Given the description of an element on the screen output the (x, y) to click on. 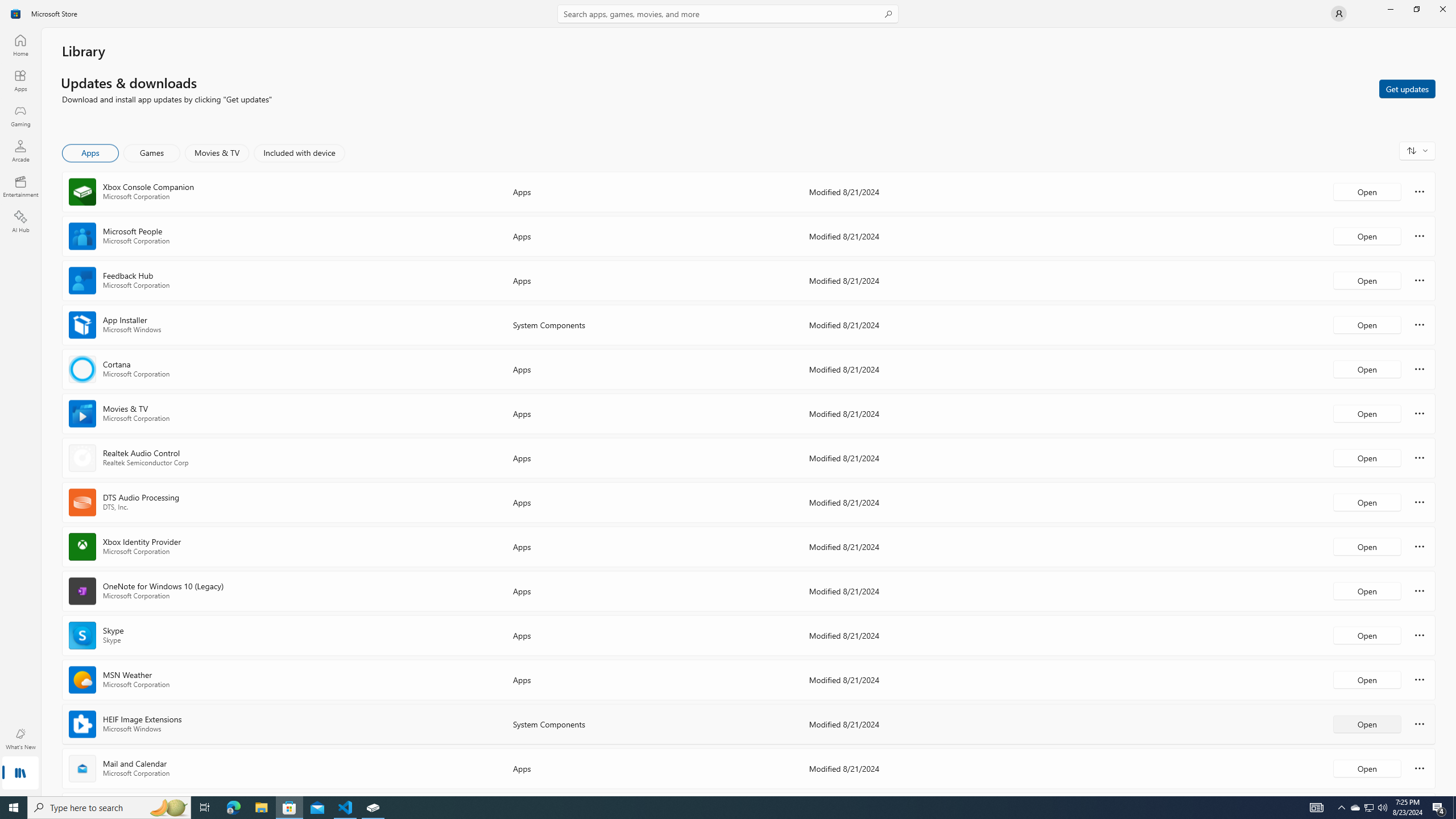
Included with device (299, 153)
What's New (20, 738)
Home (20, 45)
Movies & TV (216, 153)
Apps (20, 80)
Games (151, 153)
Restore Microsoft Store (1416, 9)
Sort and filter (1417, 149)
